Given the description of an element on the screen output the (x, y) to click on. 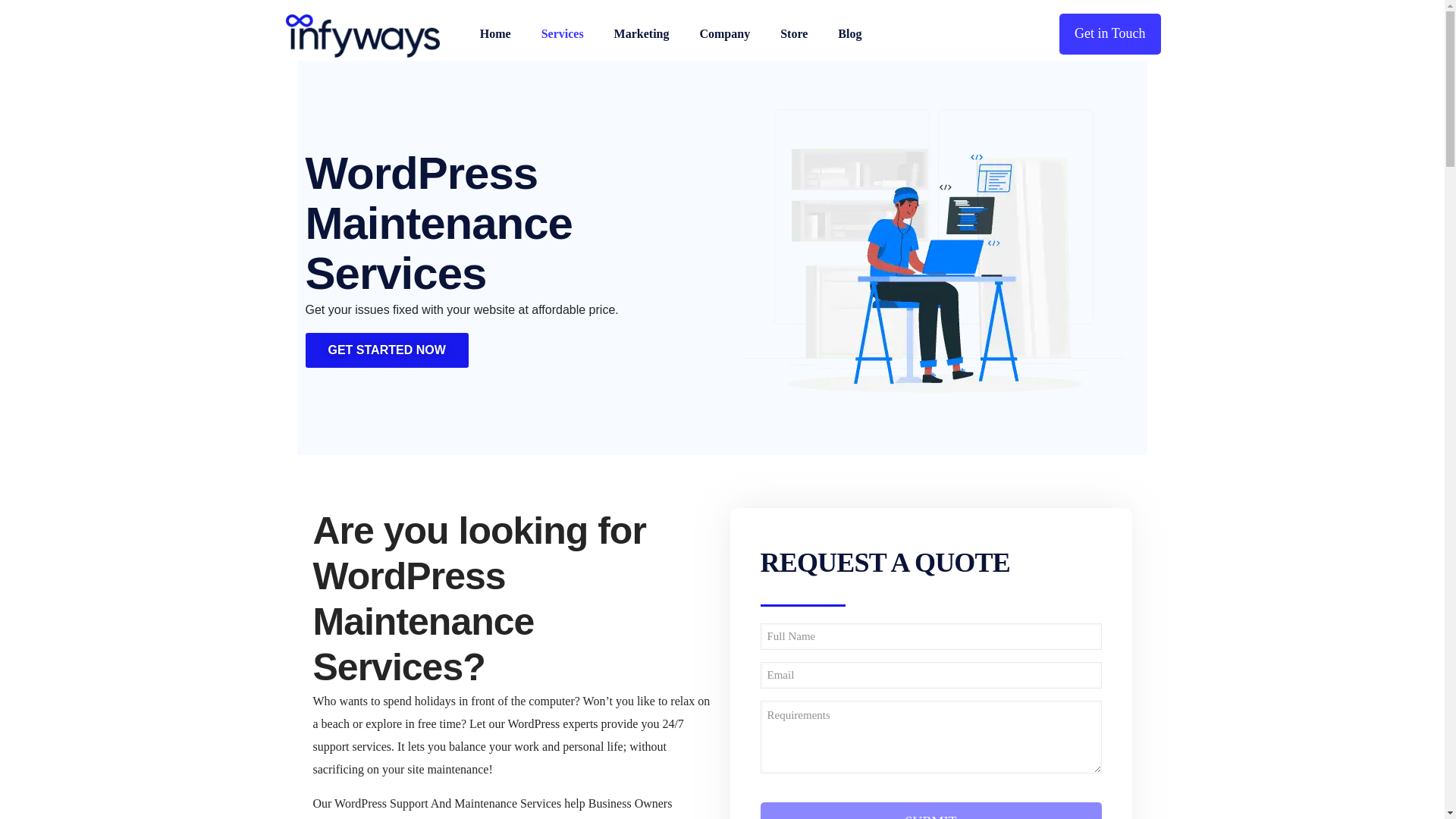
Infyways Solutions (362, 33)
Home (494, 33)
Company (724, 33)
SUBMIT (930, 810)
Marketing (641, 33)
Services (561, 33)
